Given the description of an element on the screen output the (x, y) to click on. 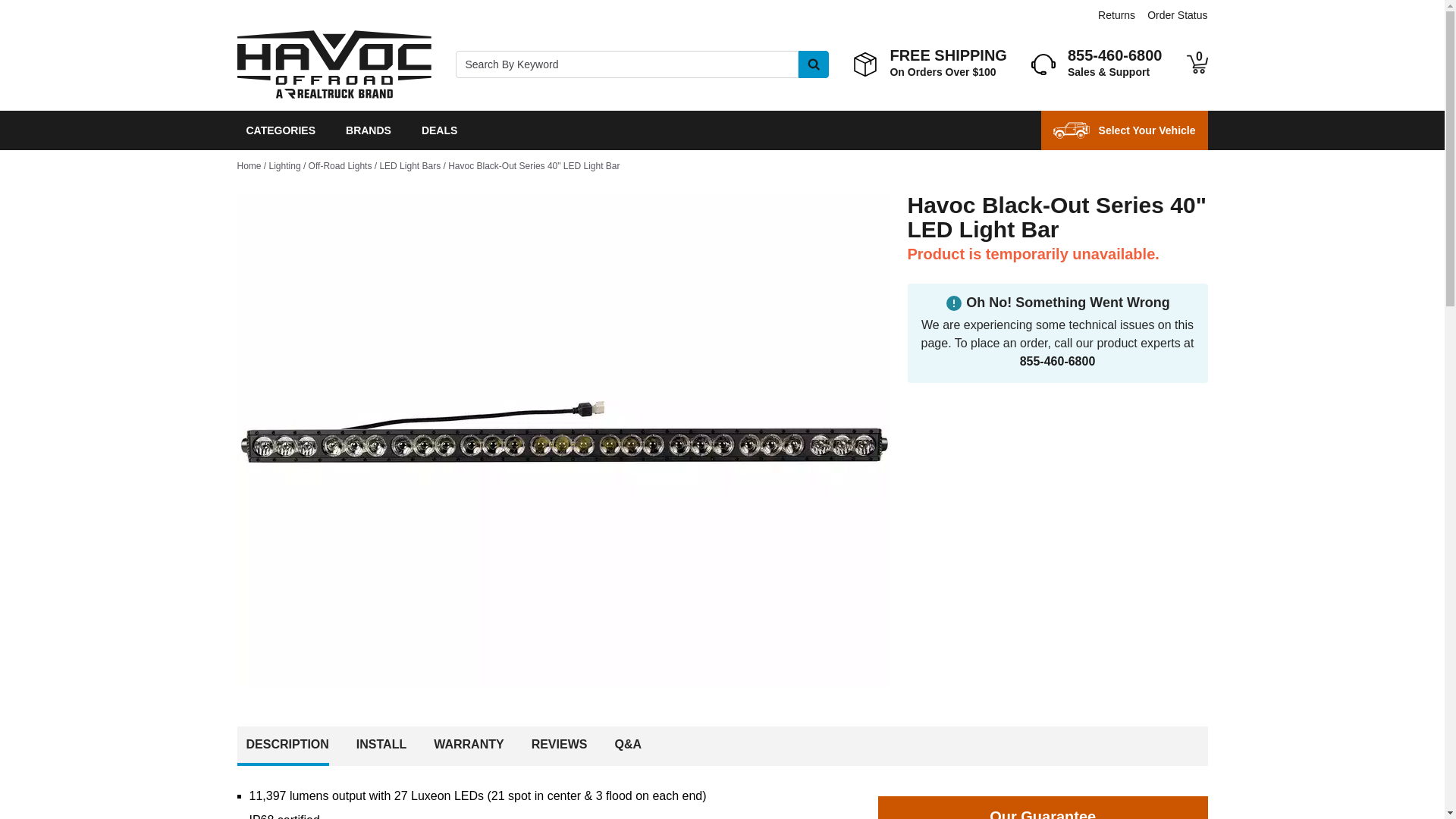
Returns (1116, 15)
0 (1196, 64)
Order Status (1177, 15)
